Given the description of an element on the screen output the (x, y) to click on. 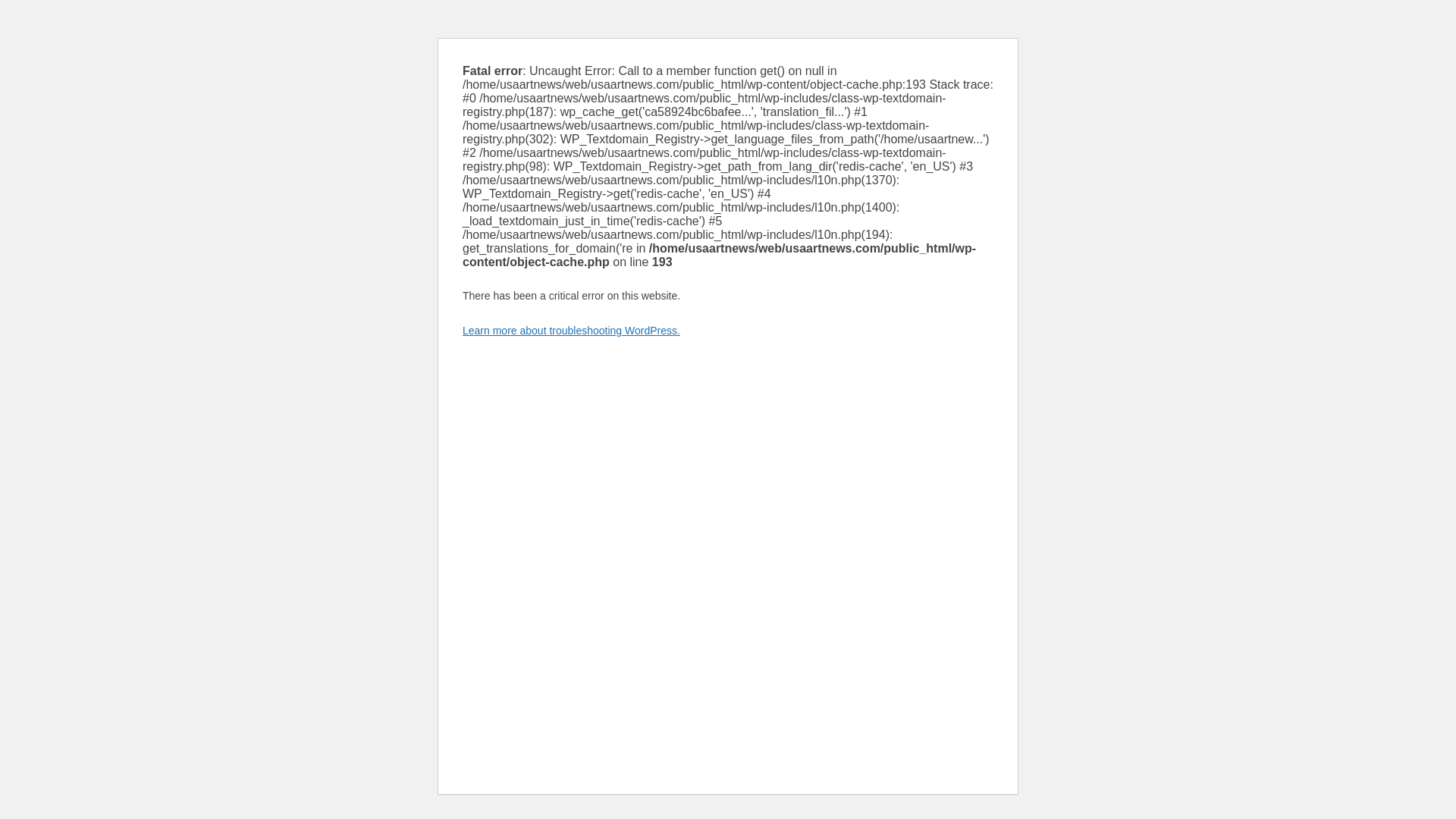
Learn more about troubleshooting WordPress. (571, 330)
